Given the description of an element on the screen output the (x, y) to click on. 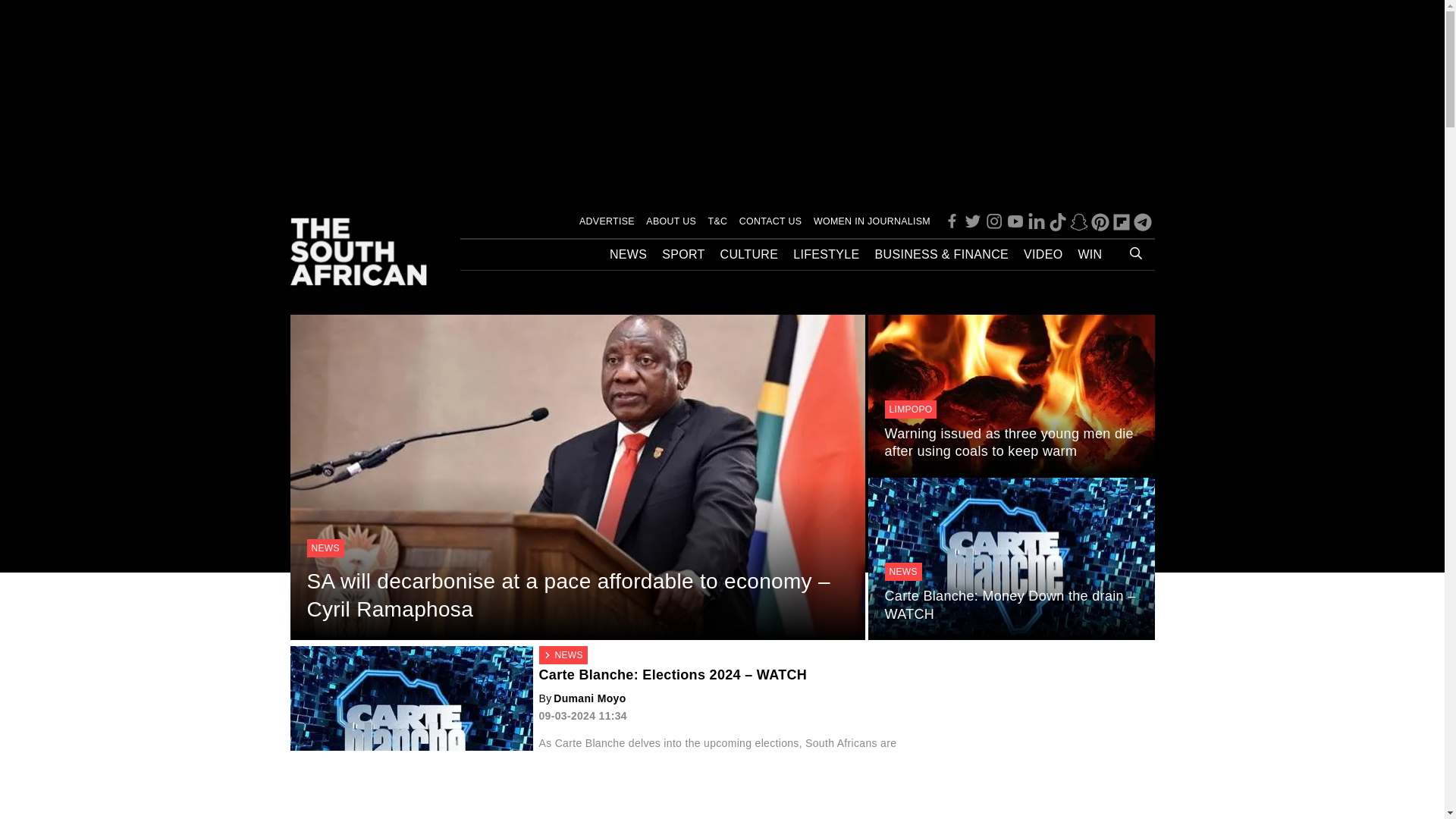
ABOUT US (670, 221)
CONTACT US (770, 221)
ADVERTISE (606, 221)
WOMEN IN JOURNALISM (871, 221)
NEWS (628, 254)
